Given the description of an element on the screen output the (x, y) to click on. 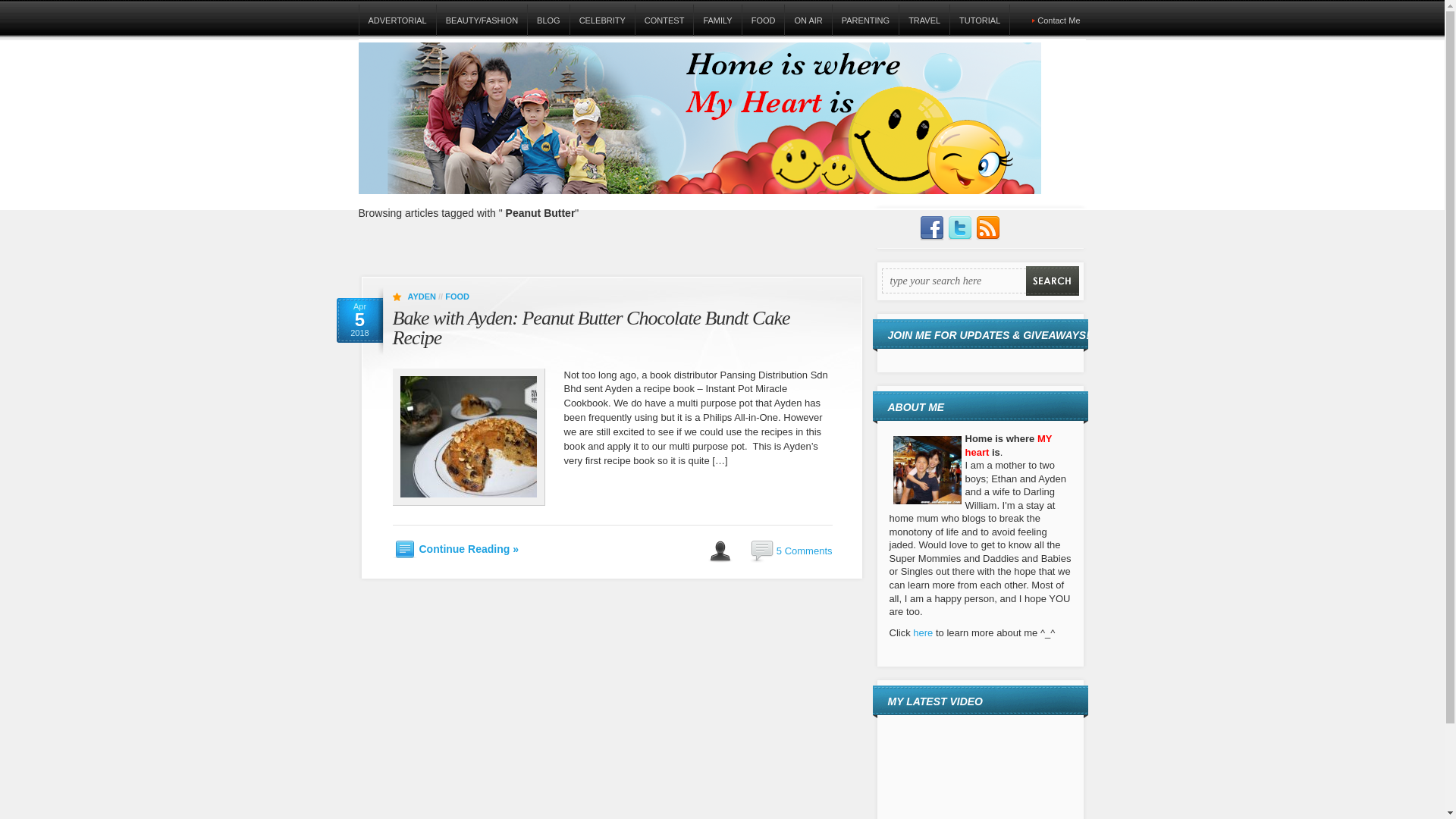
AYDEN (421, 296)
CELEBRITY (601, 20)
Contact Me (1058, 20)
TRAVEL (923, 20)
TUTORIAL (979, 20)
Bake with Ayden: Peanut Butter Chocolate Bundt Cake Recipe (591, 327)
ADVERTORIAL (396, 20)
ON AIR (807, 20)
FOOD (456, 296)
PARENTING (864, 20)
